Given the description of an element on the screen output the (x, y) to click on. 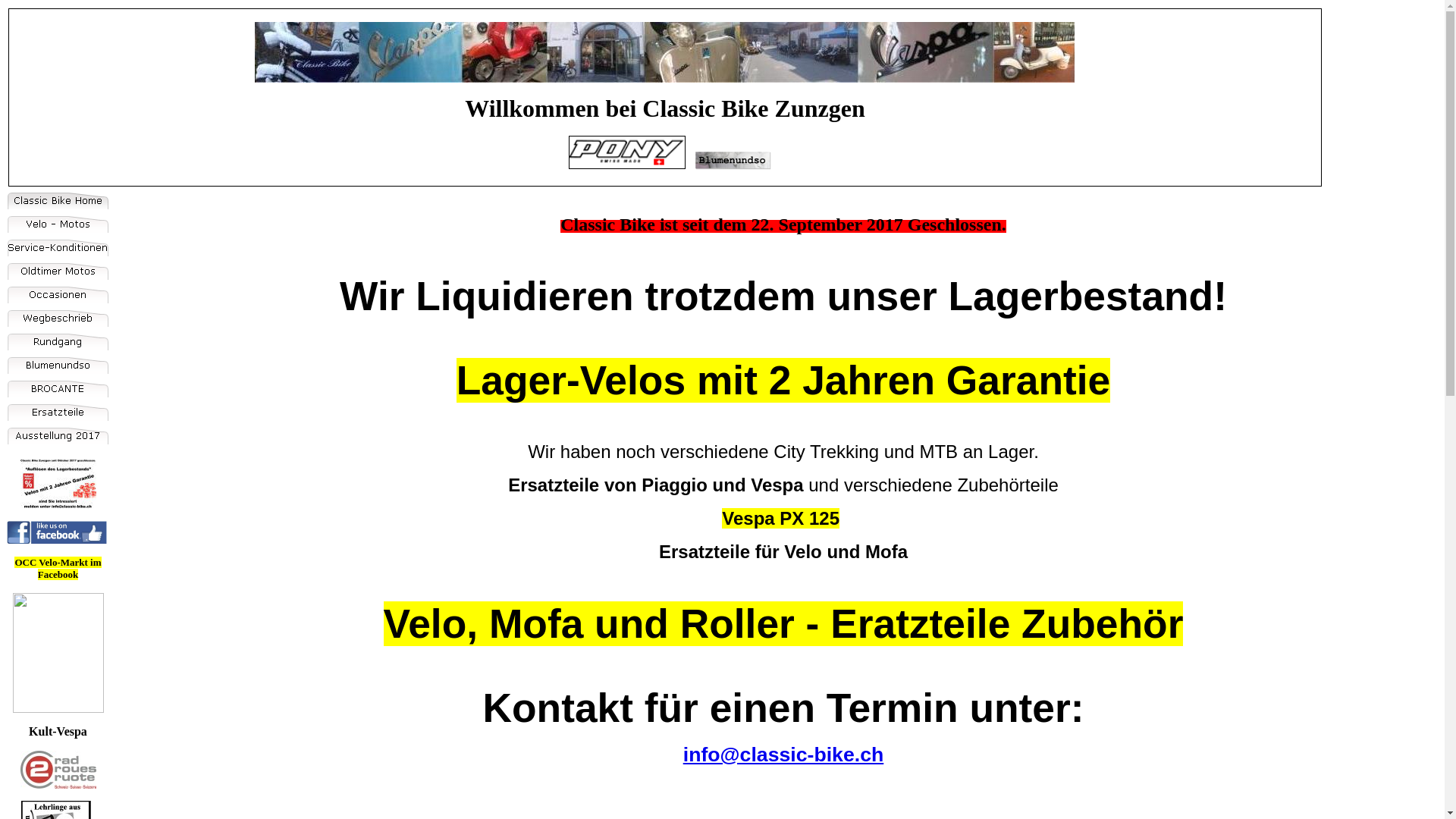
info@classic-bike.ch Element type: text (783, 754)
OCC Velo-Markt im Facebook Element type: text (57, 568)
